Given the description of an element on the screen output the (x, y) to click on. 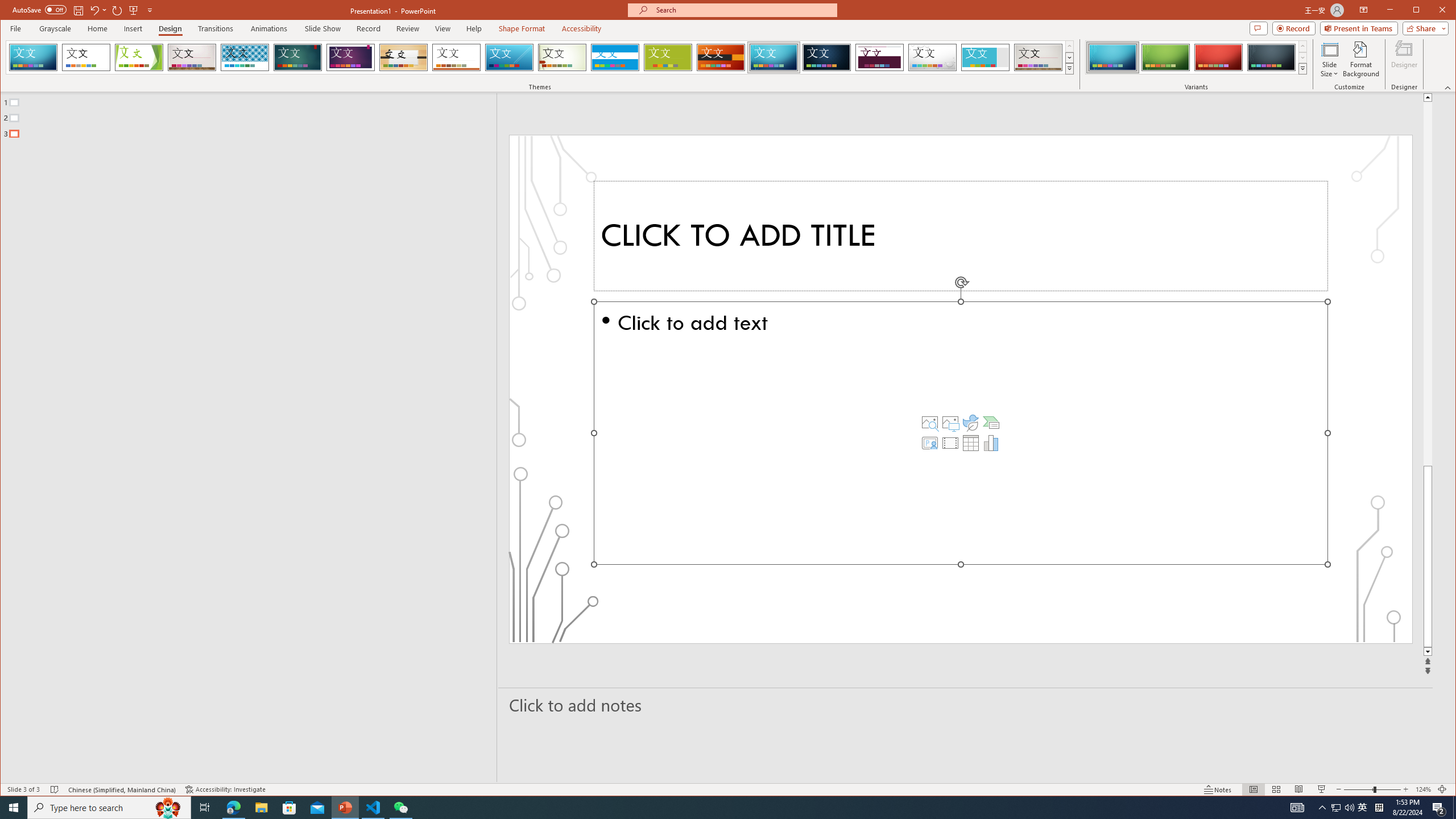
Circuit Variant 2 (1165, 57)
Content Placeholder (960, 433)
Circuit Variant 4 (1270, 57)
AutomationID: SlideThemesGallery (540, 57)
